Given the description of an element on the screen output the (x, y) to click on. 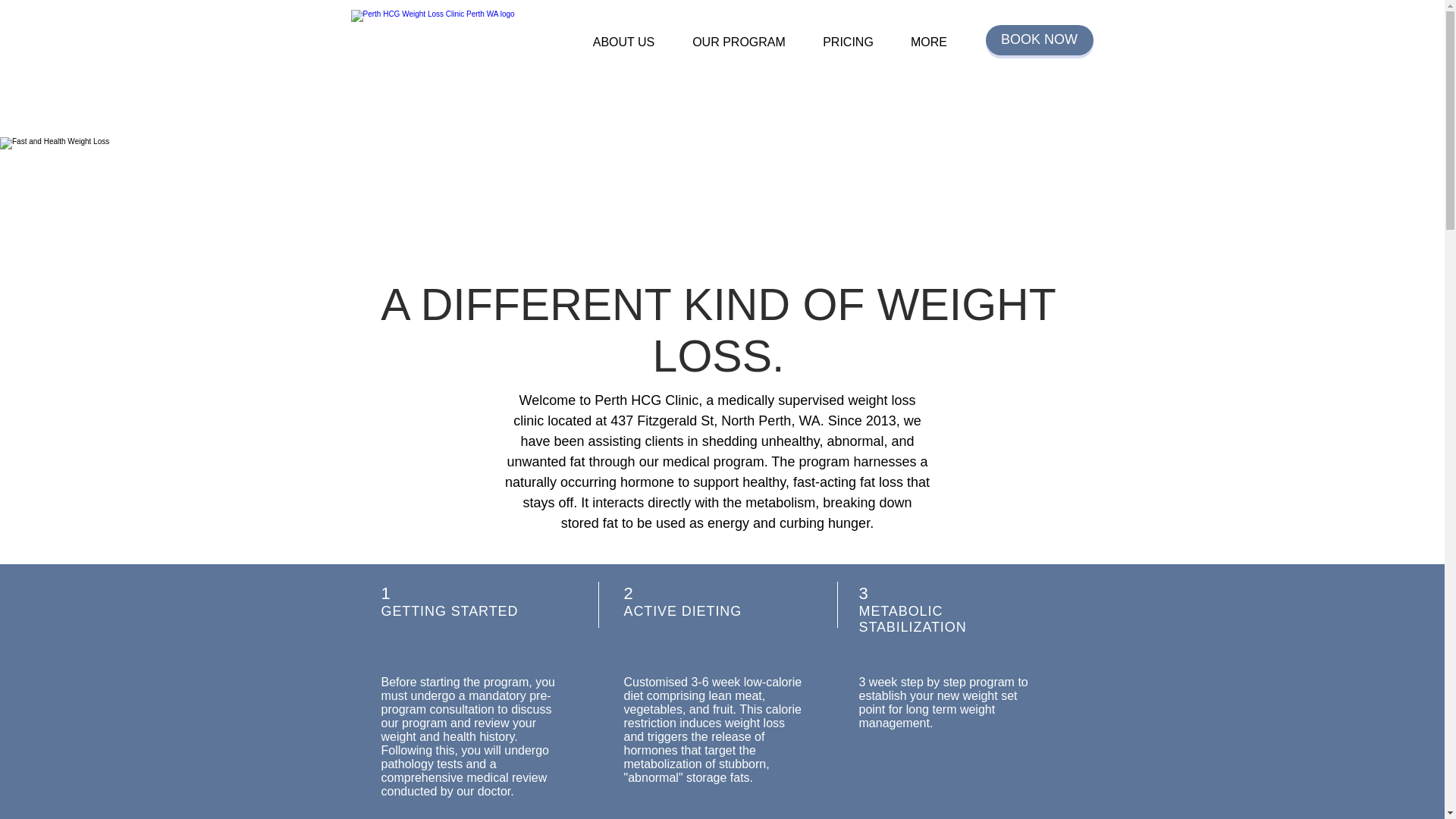
OUR PROGRAM (737, 42)
BOOK NOW (1039, 40)
ABOUT US (622, 42)
PRICING (847, 42)
Perth HCG Weight Loss Clinic (448, 67)
